Given the description of an element on the screen output the (x, y) to click on. 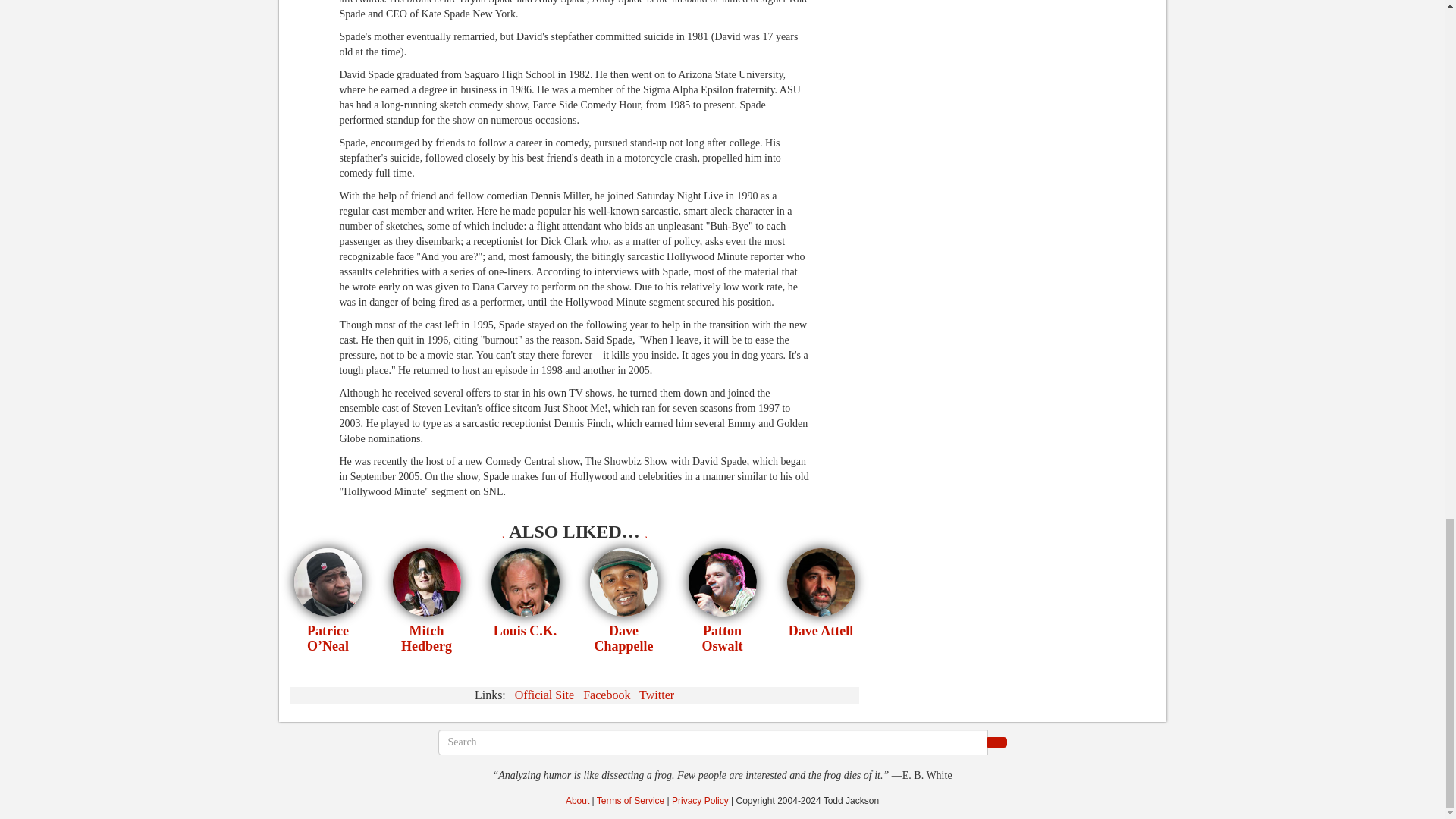
About Dead-Frog and Todd Jackson (577, 800)
